Given the description of an element on the screen output the (x, y) to click on. 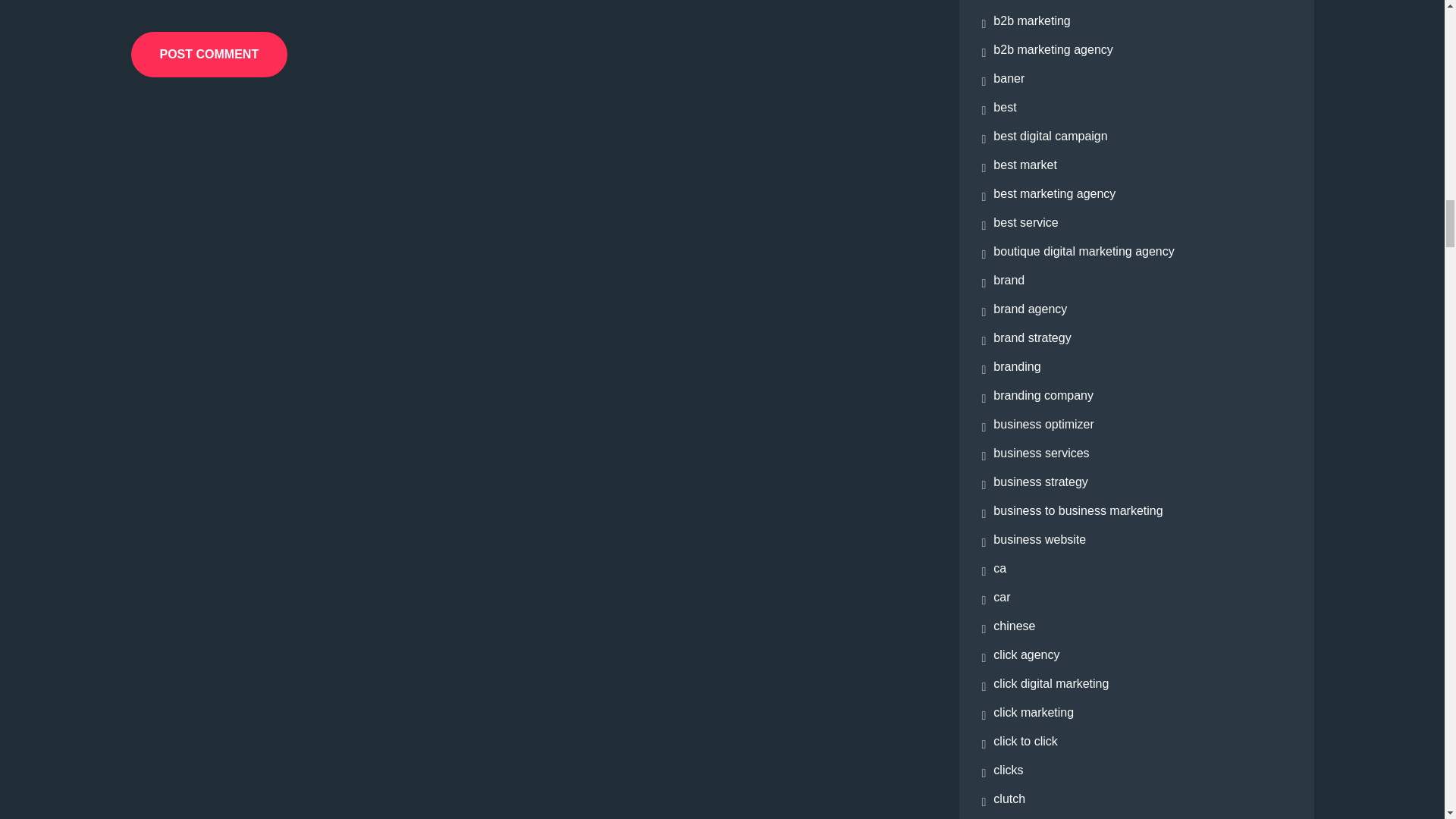
Post Comment (208, 53)
